Given the description of an element on the screen output the (x, y) to click on. 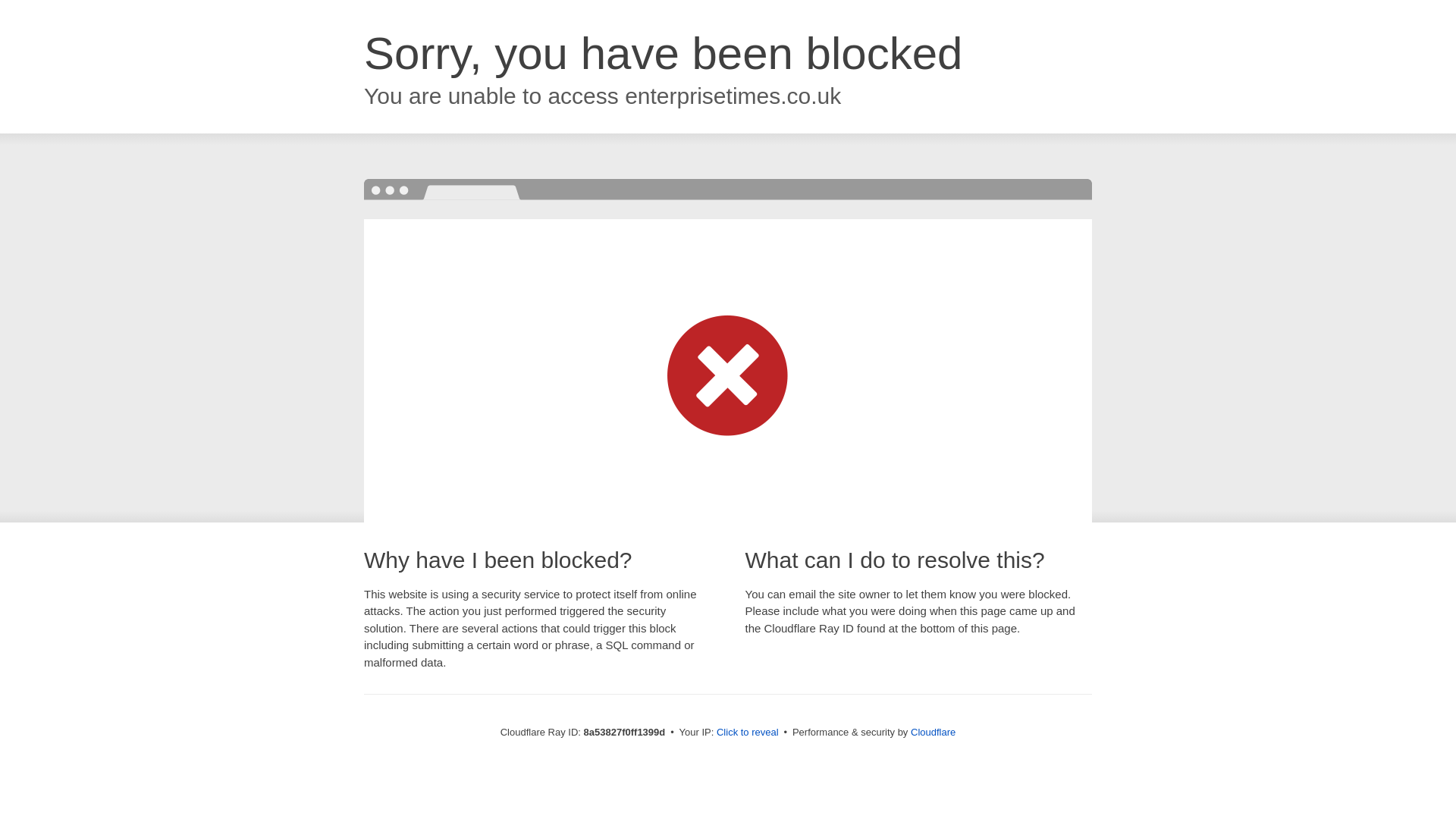
Cloudflare (933, 731)
Click to reveal (747, 732)
